Given the description of an element on the screen output the (x, y) to click on. 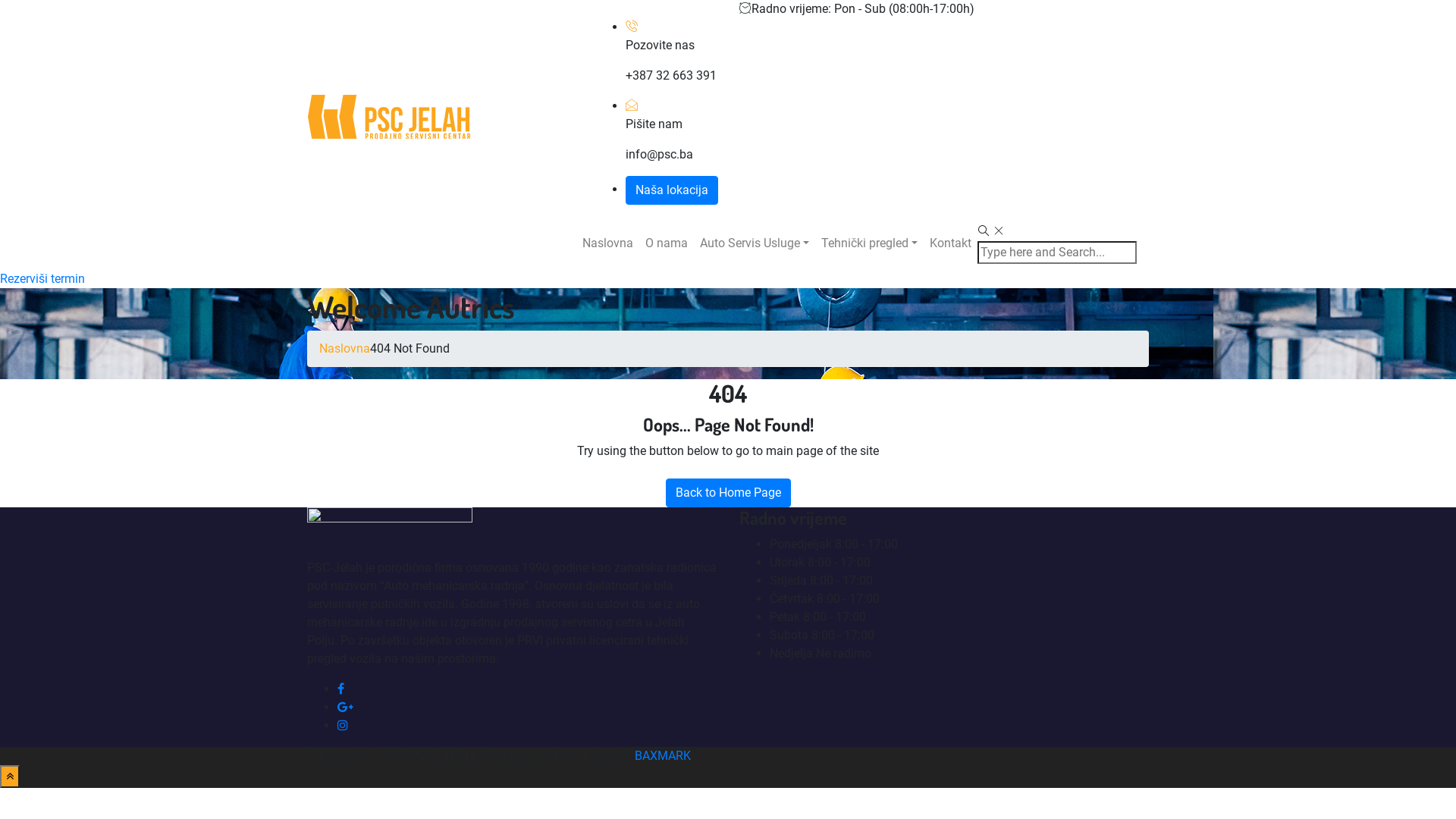
O nama Element type: text (666, 243)
Auto Servis Usluge Element type: text (754, 243)
Naslovna Element type: text (344, 348)
Naslovna Element type: text (607, 243)
BAXMARK Element type: text (662, 755)
Kontakt Element type: text (950, 243)
Back to Top Element type: hover (9, 776)
Back to Home Page Element type: text (727, 492)
